Given the description of an element on the screen output the (x, y) to click on. 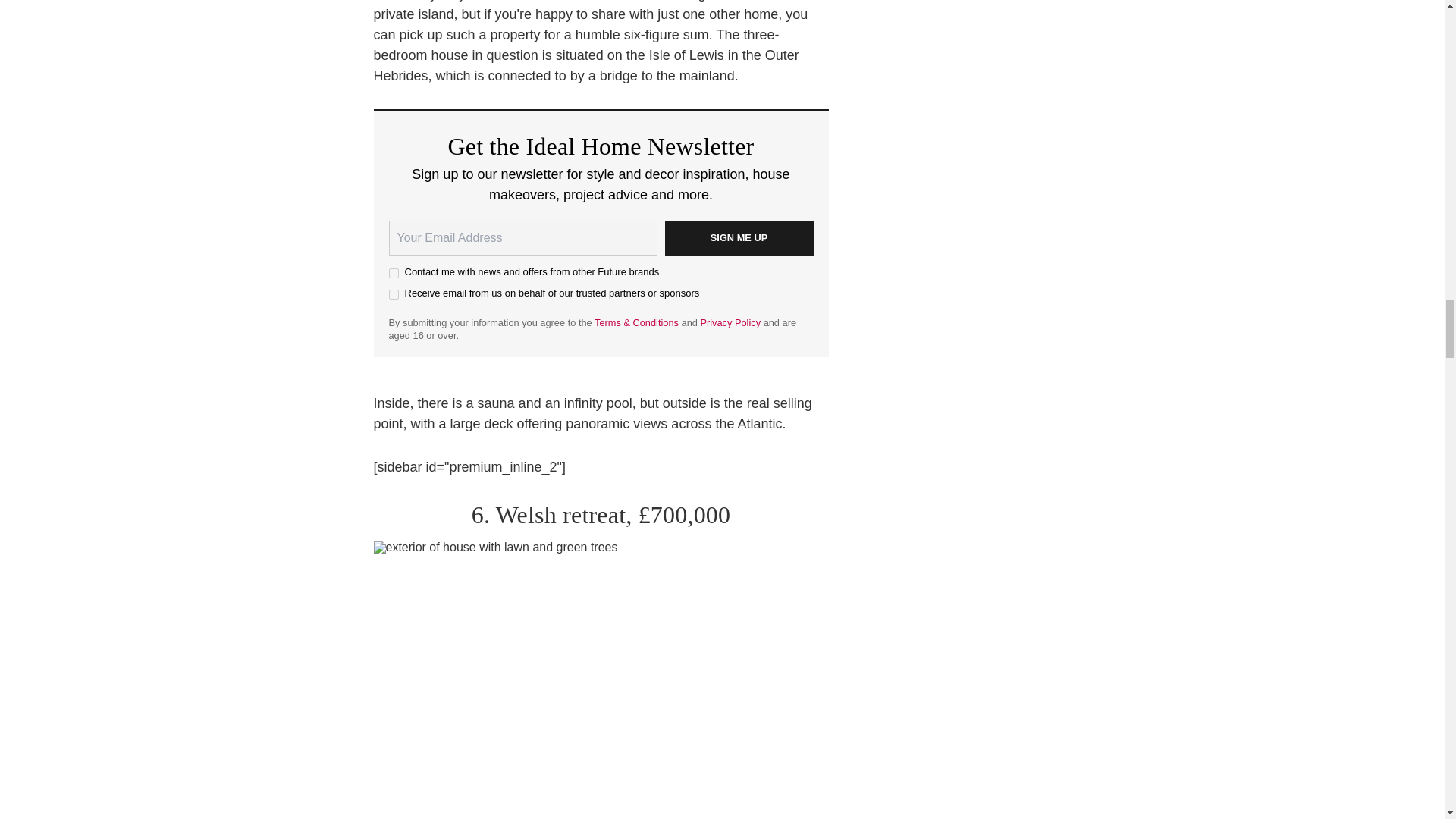
on (392, 273)
Sign me up (737, 237)
on (392, 294)
